Given the description of an element on the screen output the (x, y) to click on. 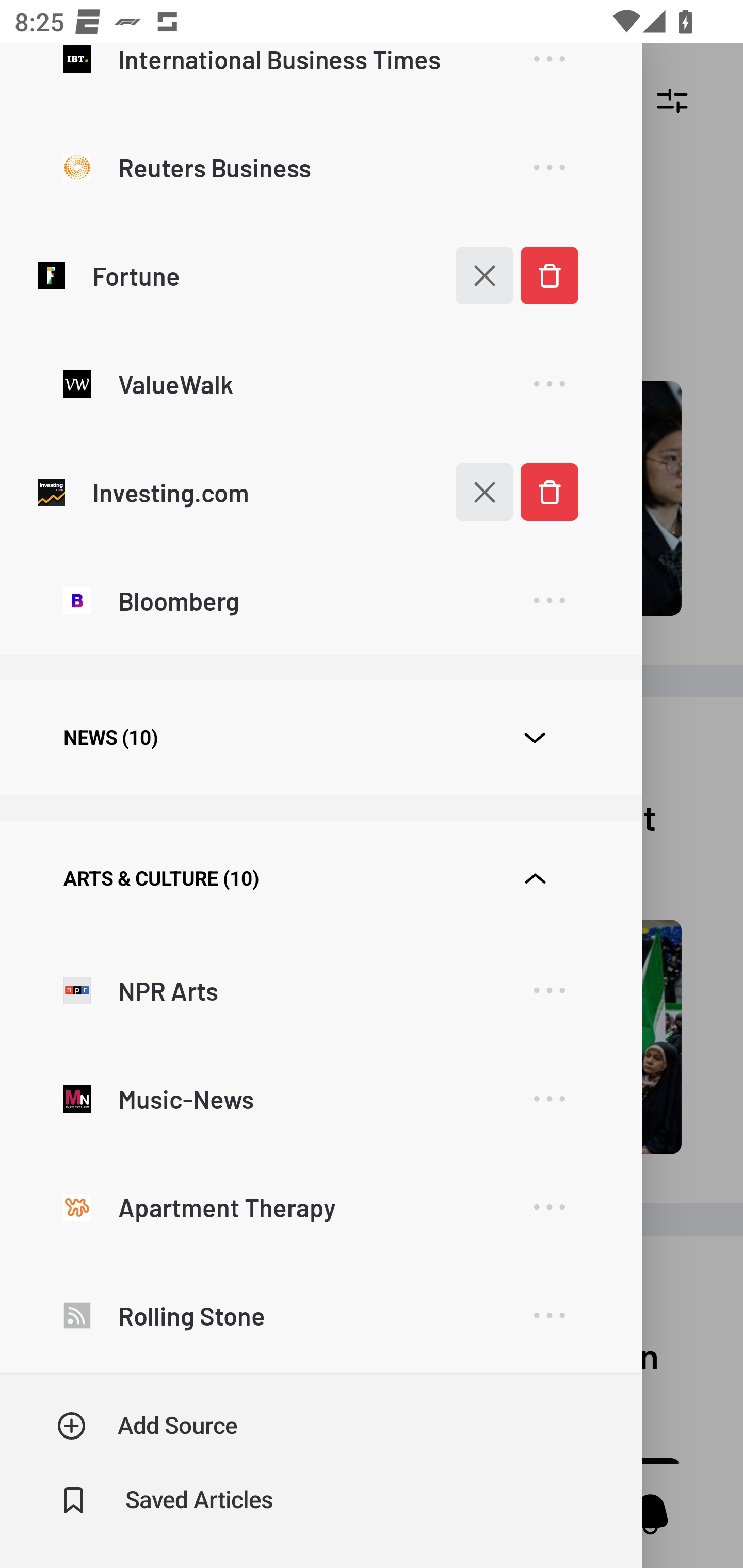
More Options (548, 72)
Writer Logo Reuters Business More Options (320, 166)
More Options (548, 167)
Writer Logo Fortune Cancel Action Remove Source (320, 275)
Cancel Action (473, 275)
Remove Source (548, 275)
Writer Logo ValueWalk More Options (320, 383)
More Options (548, 384)
Cancel Action (473, 491)
Remove Source (548, 491)
Writer Logo Bloomberg More Options (320, 599)
More Options (548, 601)
NEWS  (10) Expand Button (320, 737)
Expand Button (534, 737)
Expand Button (534, 878)
Writer Logo NPR Arts More Options (320, 990)
More Options (548, 990)
Writer Logo Music-News More Options (320, 1098)
More Options (548, 1099)
Writer Logo Apartment Therapy More Options (320, 1206)
More Options (548, 1207)
RSS Feed Icon Rolling Stone More Options (320, 1314)
More Options (548, 1316)
Open Content Store Add Source (147, 1425)
Open Saved News  Saved Articles (166, 1500)
